Given the description of an element on the screen output the (x, y) to click on. 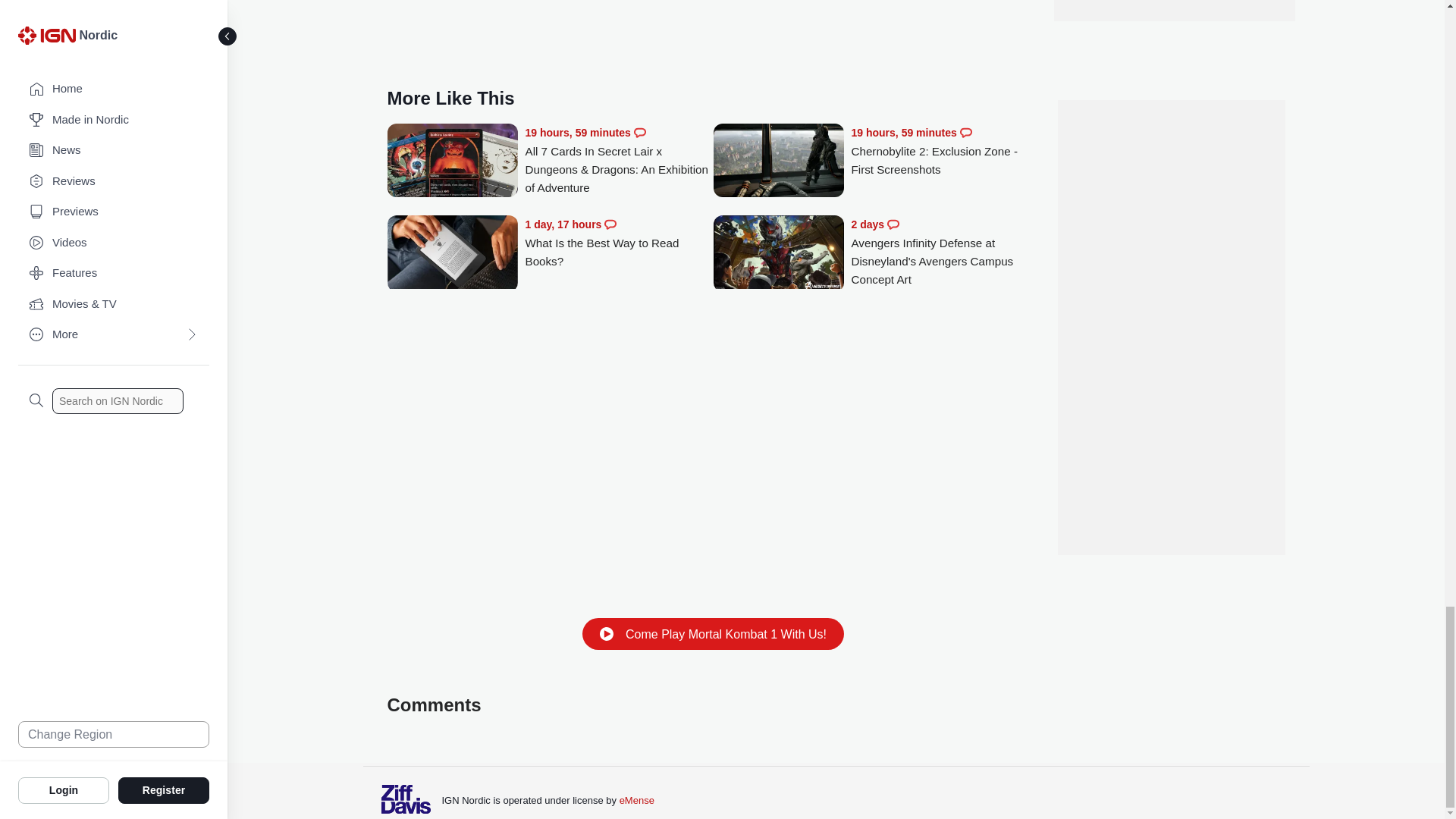
What Is the Best Way to Read Books? (451, 254)
Comments (965, 132)
Chernobylite 2: Exclusion Zone - First Screenshots (944, 151)
Comments (892, 224)
What Is the Best Way to Read Books? (618, 243)
Comments (639, 132)
Comments (609, 224)
Chernobylite 2: Exclusion Zone - First Screenshots (778, 161)
